Given the description of an element on the screen output the (x, y) to click on. 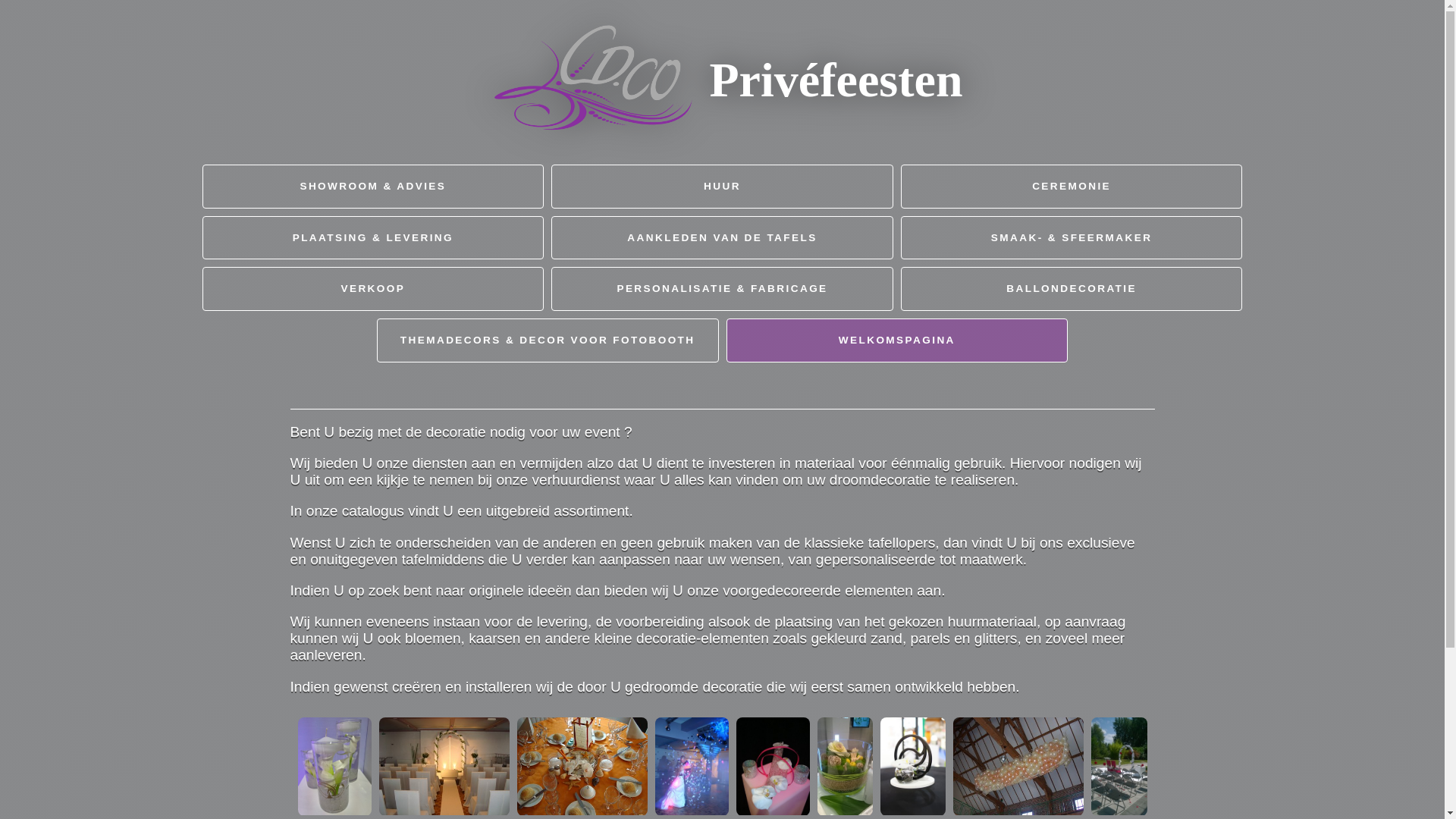
SHOWROOM & ADVIES Element type: text (373, 186)
PERSONALISATIE & FABRICAGE Element type: text (722, 288)
PLAATSING & LEVERING Element type: text (373, 238)
THEMADECORS & DECOR VOOR FOTOBOOTH Element type: text (547, 340)
AANKLEDEN VAN DE TAFELS Element type: text (722, 238)
VERKOOP Element type: text (373, 288)
CEREMONIE Element type: text (1071, 186)
HUUR Element type: text (722, 186)
WELKOMSPAGINA Element type: text (897, 340)
SMAAK- & SFEERMAKER Element type: text (1071, 238)
BALLONDECORATIE Element type: text (1071, 288)
